Given the description of an element on the screen output the (x, y) to click on. 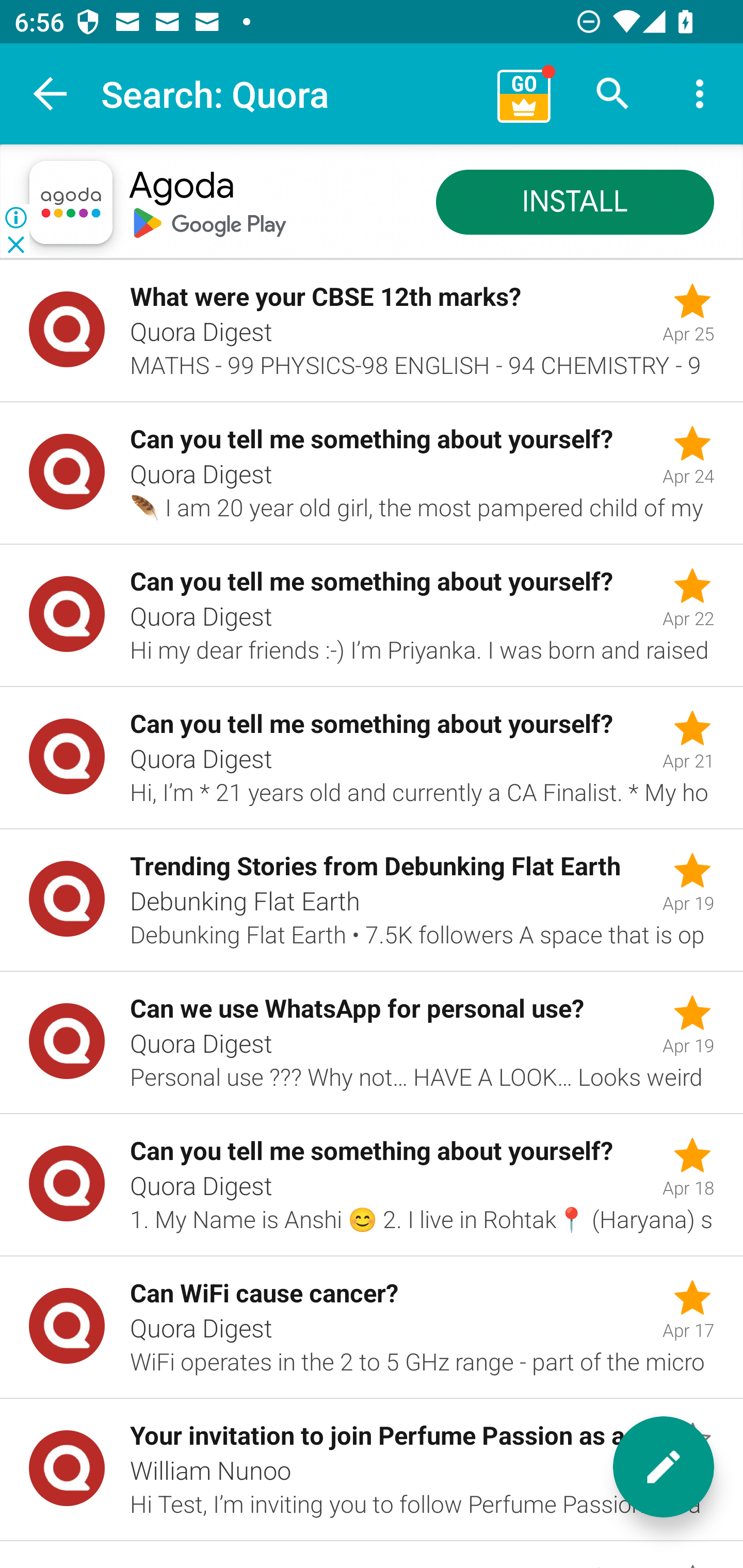
Navigate up (50, 93)
Search (612, 93)
More options (699, 93)
New message (663, 1466)
